Given the description of an element on the screen output the (x, y) to click on. 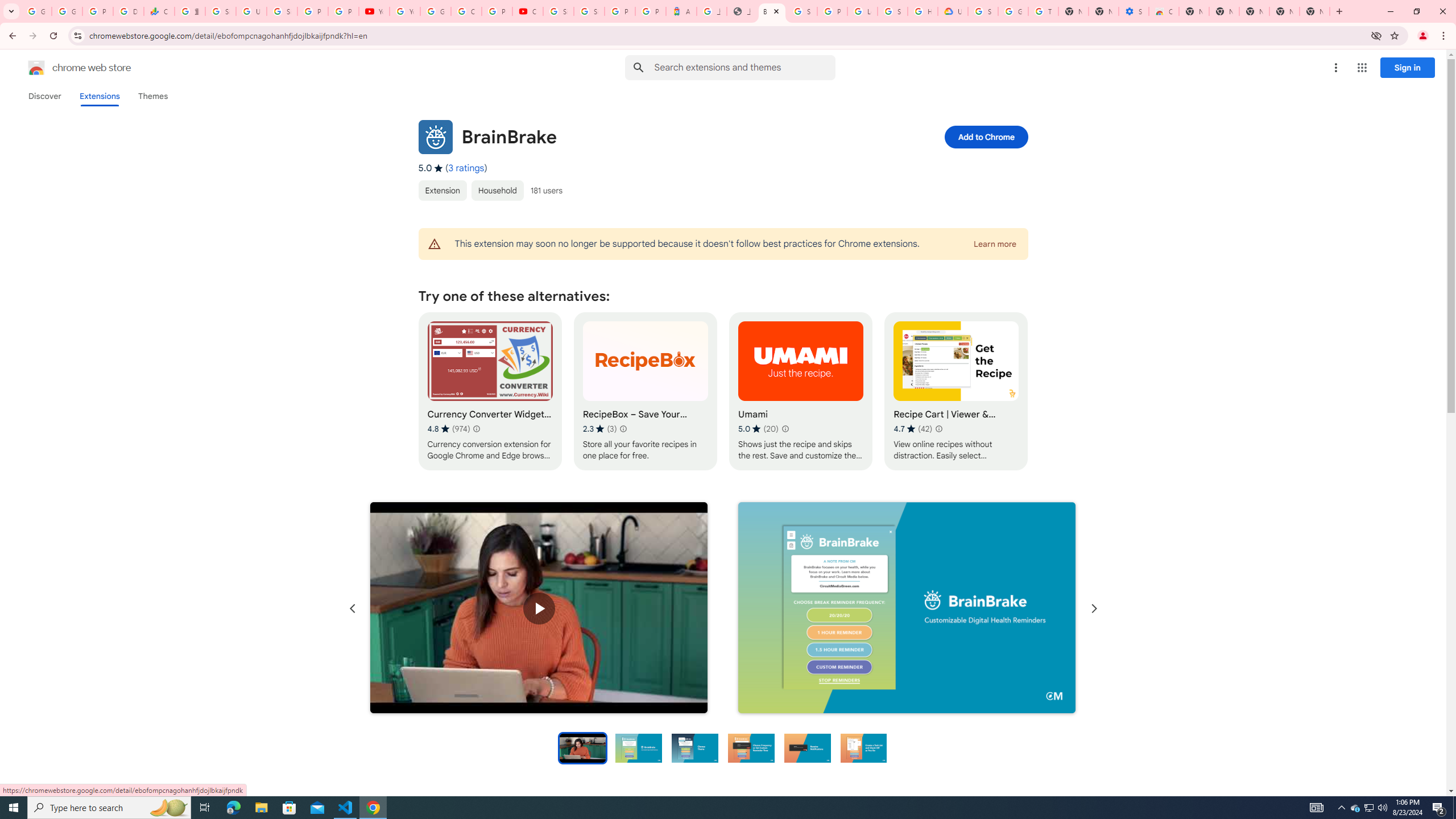
Google Account Help (434, 11)
YouTube (373, 11)
Chrome Web Store logo chrome web store (67, 67)
Content Creator Programs & Opportunities - YouTube Creators (527, 11)
Average rating 4.7 out of 5 stars. 42 ratings. (913, 428)
New Tab (1193, 11)
Settings - Accessibility (1133, 11)
Sign in - Google Accounts (589, 11)
Recipe Cart | Viewer & Grocery Assistant (955, 391)
